Given the description of an element on the screen output the (x, y) to click on. 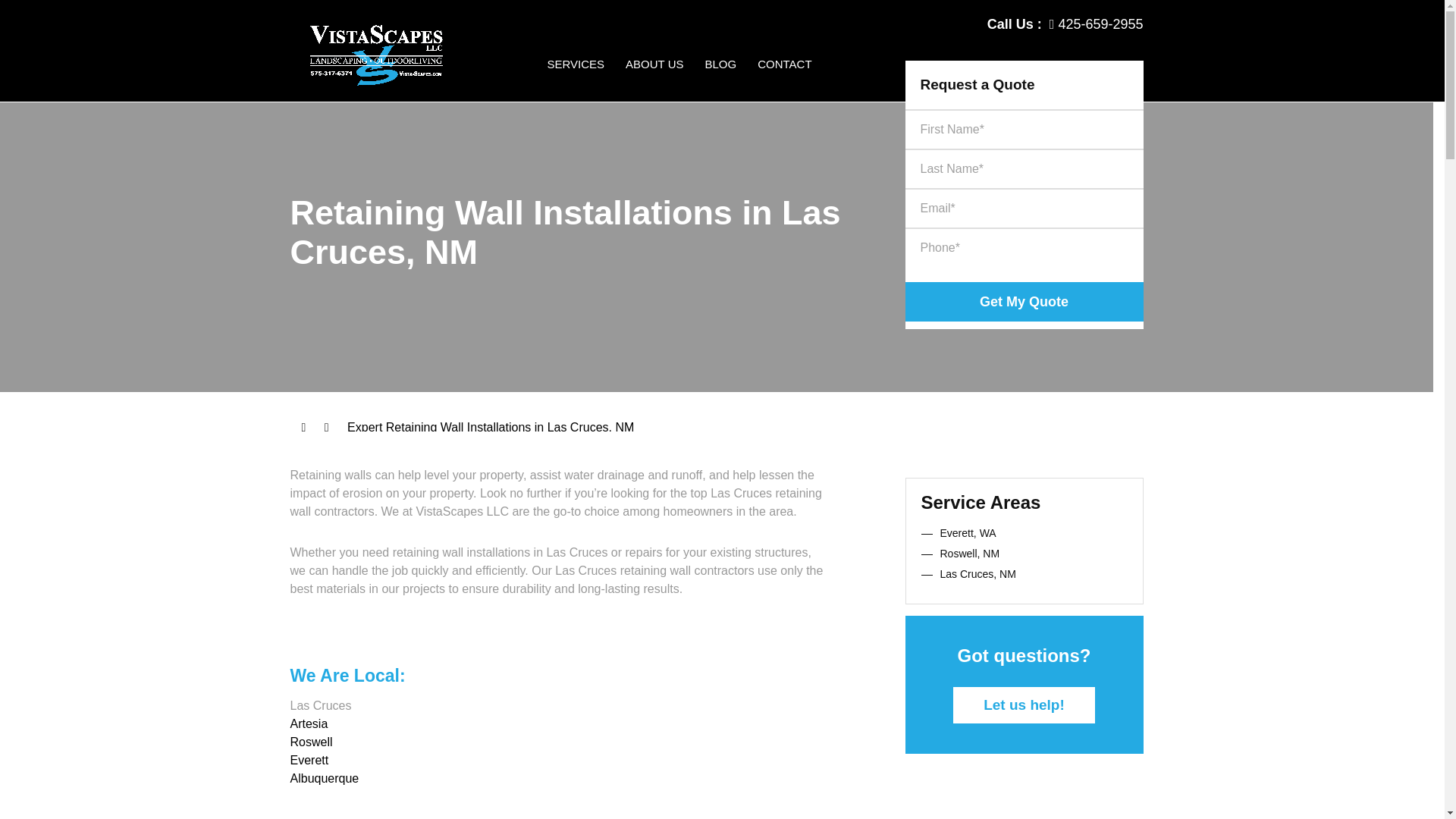
Get My Quote (1023, 301)
CONTACT (783, 79)
Everett (309, 759)
Albuquerque (323, 778)
SERVICES (576, 79)
Roswell (310, 741)
Everett, WA (967, 532)
Get My Quote (1023, 301)
425-659-2955 (1095, 23)
Roswell, NM (970, 553)
Let us help! (1023, 705)
Artesia (308, 723)
ABOUT US (654, 79)
Las Cruces, NM (978, 573)
